Given the description of an element on the screen output the (x, y) to click on. 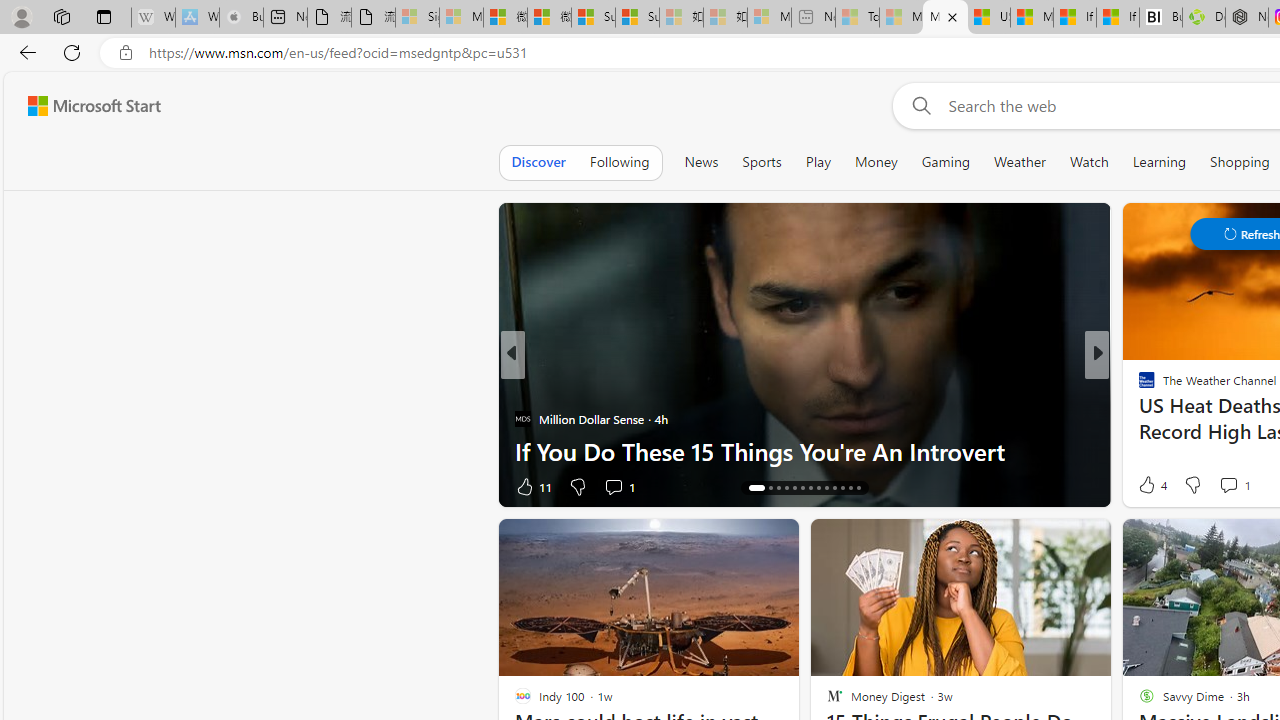
AutomationID: tab-26 (857, 487)
ChaChingQueen (1138, 386)
150 Like (1151, 486)
Million Dollar Sense (522, 418)
5k Like (1148, 486)
38 Like (1149, 486)
115 Like (1151, 486)
Hide this story (1050, 542)
289 Like (1151, 486)
